Given the description of an element on the screen output the (x, y) to click on. 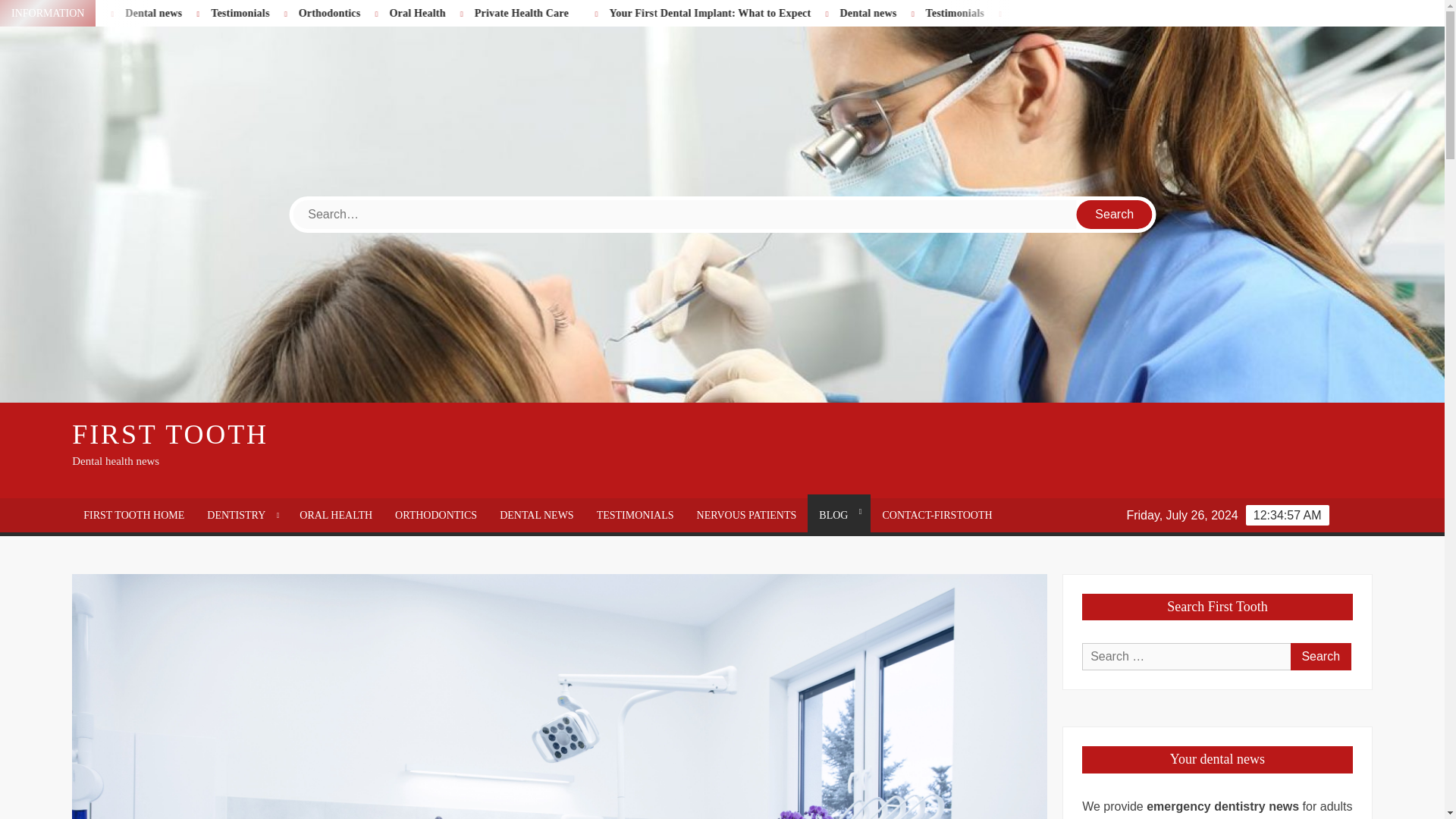
TESTIMONIALS (635, 514)
ORAL HEALTH (336, 514)
Your First Dental Implant: What to Expect (96, 12)
Testimonials (305, 12)
Your First Dental Implant: What to Expect (82, 12)
ORTHODONTICS (435, 514)
FIRST TOOTH HOME (133, 514)
Dental news (959, 12)
Testimonials (335, 12)
Your First Dental Implant: What to Expect (771, 12)
Orthodontics (424, 12)
Search (1115, 214)
Dental news (250, 12)
Search (1320, 656)
Search (1115, 214)
